Given the description of an element on the screen output the (x, y) to click on. 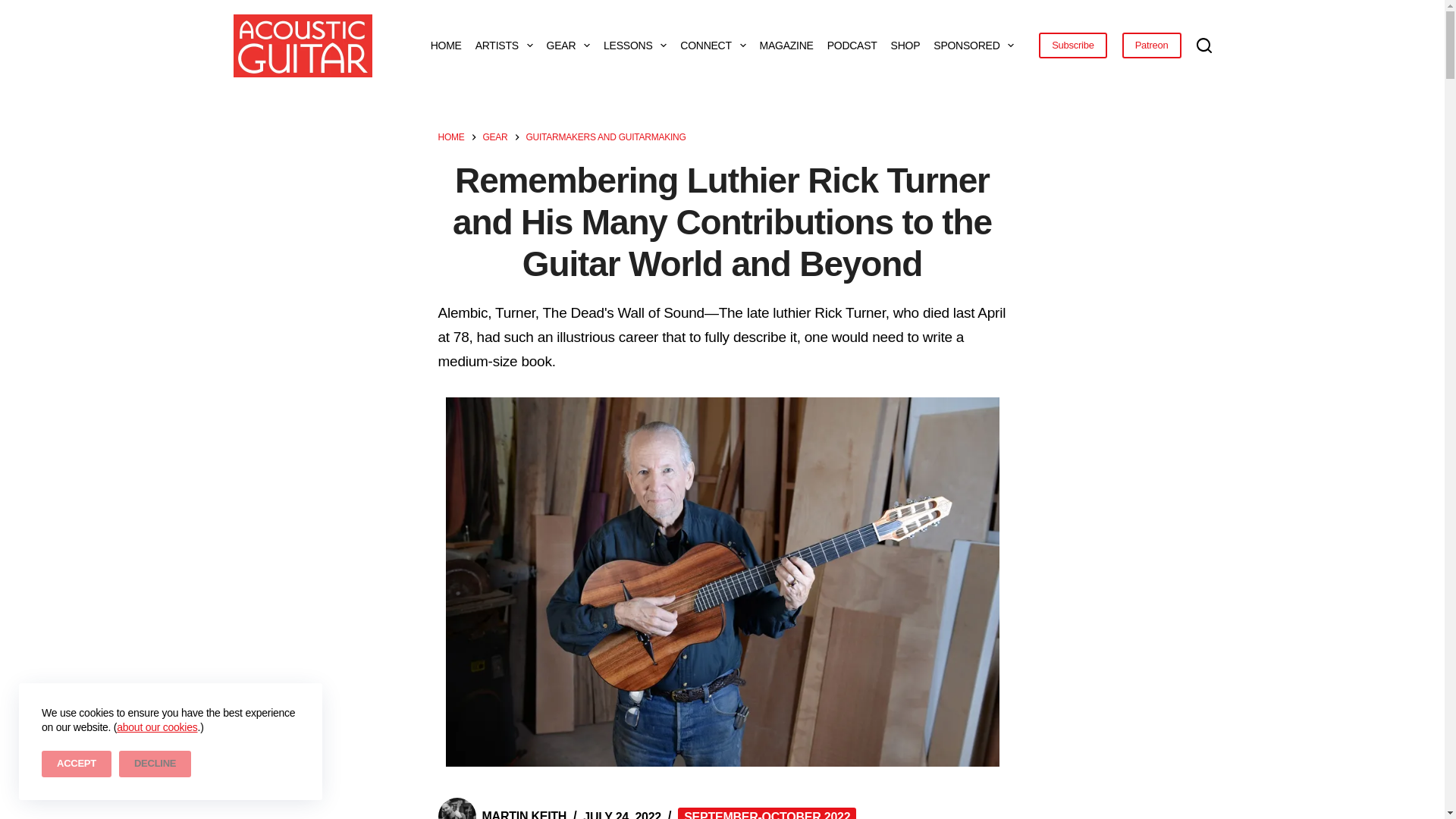
Posts by Martin Keith (524, 814)
Skip to content (15, 7)
about our cookies (156, 727)
